Given the description of an element on the screen output the (x, y) to click on. 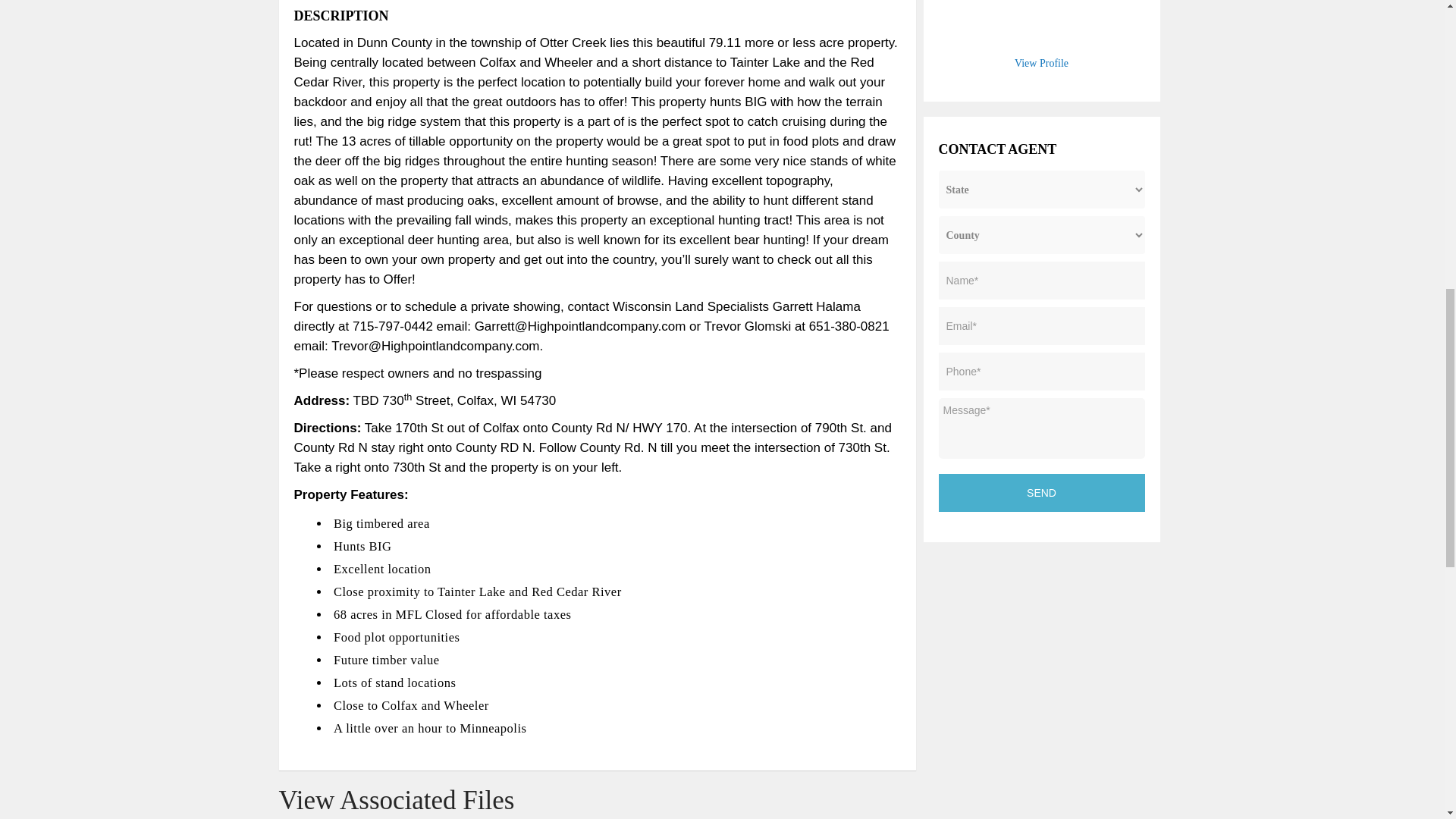
Send (1041, 492)
View Profile (1041, 62)
Send (1041, 492)
